Given the description of an element on the screen output the (x, y) to click on. 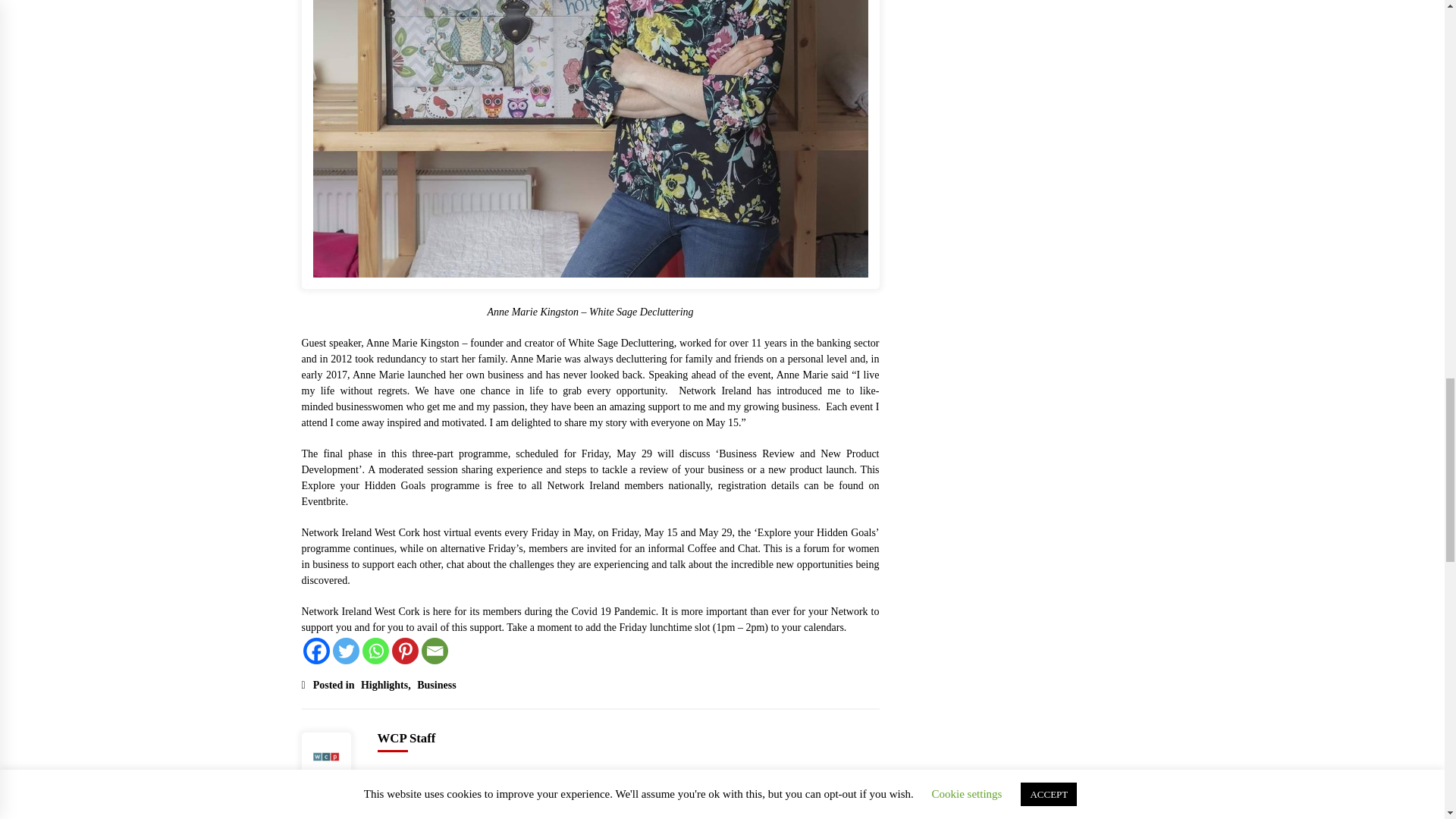
Facebook (316, 651)
Twitter (344, 651)
Email (435, 651)
Whatsapp (375, 651)
Pinterest (404, 651)
